Given the description of an element on the screen output the (x, y) to click on. 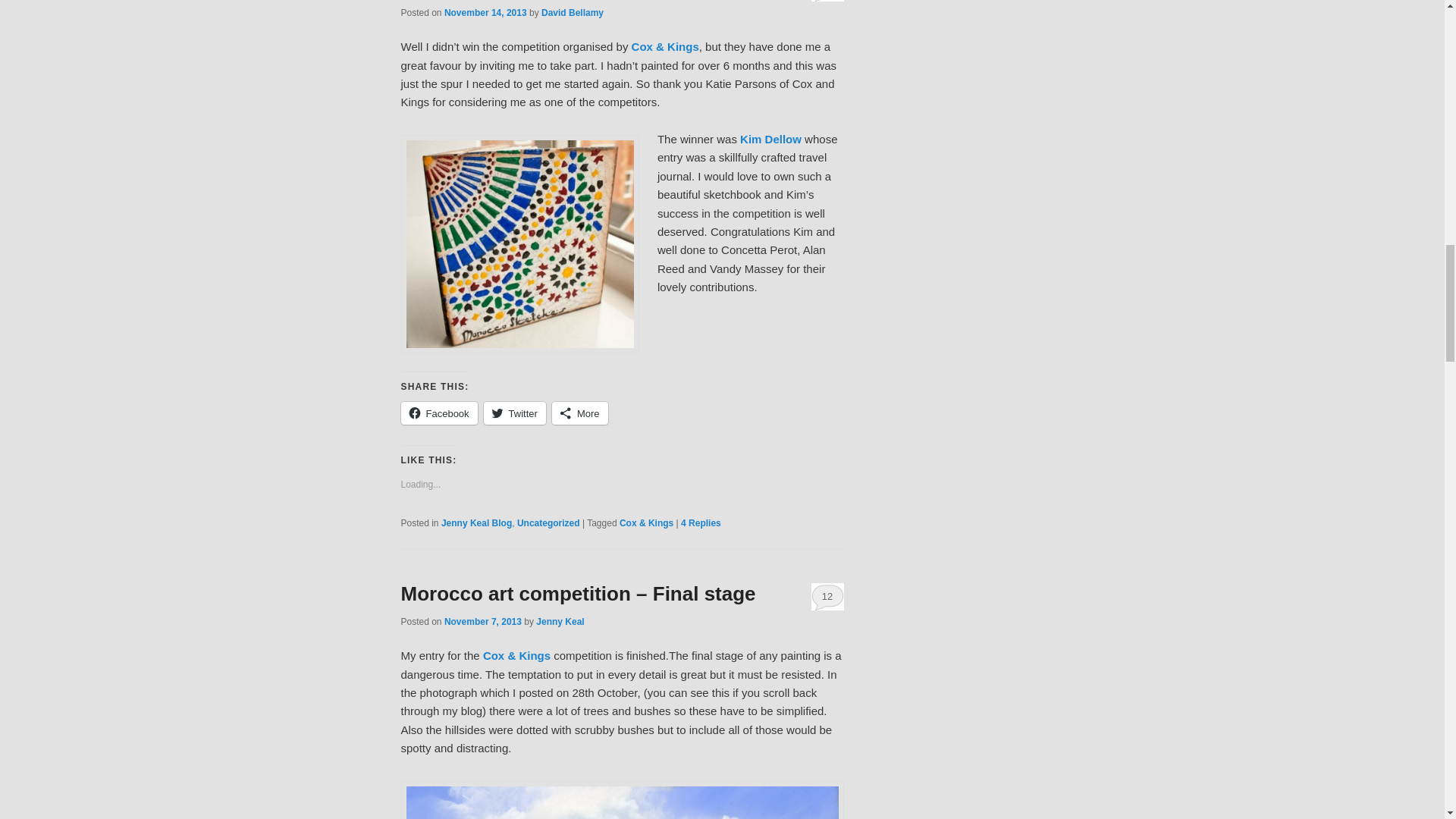
Click to share on Twitter (514, 413)
Click to share on Facebook (438, 413)
Kim Dellow (519, 243)
5:16 pm (485, 12)
View all posts by David Bellamy (572, 12)
